Given the description of an element on the screen output the (x, y) to click on. 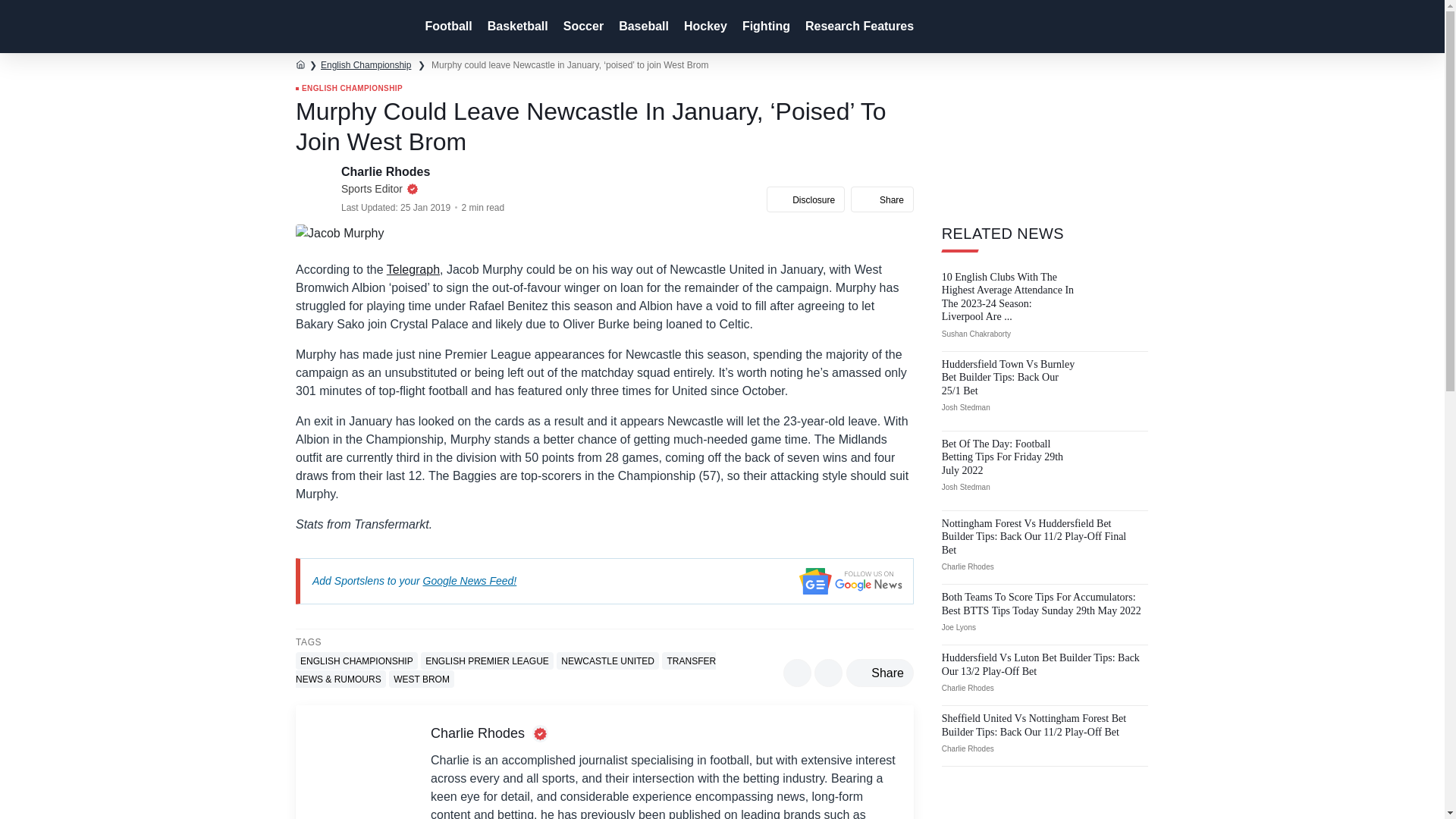
ENGLISH CHAMPIONSHIP (349, 88)
Google News Feed! (469, 580)
Hockey (704, 26)
Charlie Rhodes (386, 171)
Fighting (764, 26)
Telegraph (413, 269)
Research Features (858, 26)
Football (445, 26)
Soccer (582, 26)
Basketball (516, 26)
